Given the description of an element on the screen output the (x, y) to click on. 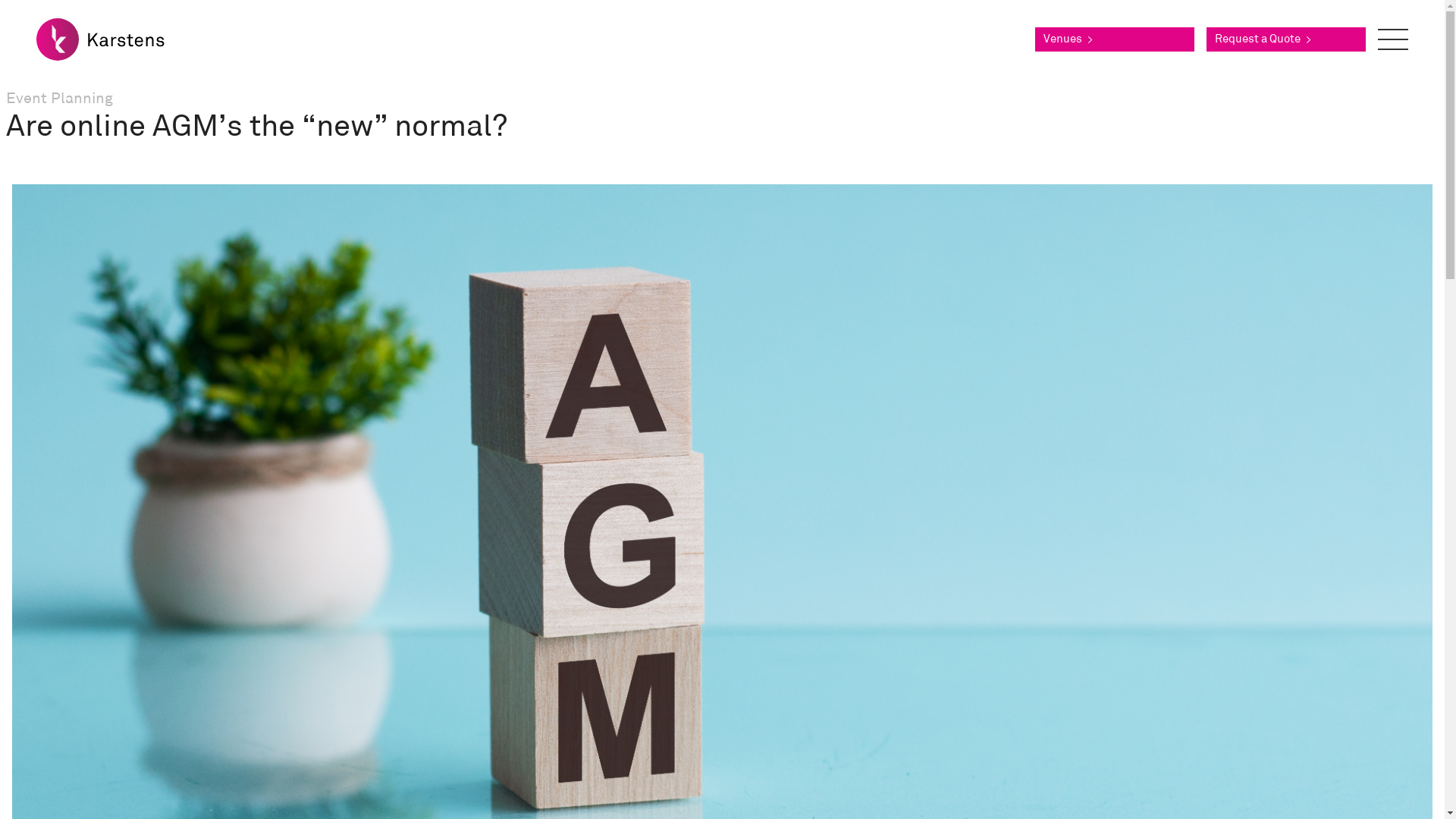
Venues > Element type: text (1114, 39)
Request a Quote > Element type: text (1285, 39)
Event Planning Element type: text (59, 98)
